Given the description of an element on the screen output the (x, y) to click on. 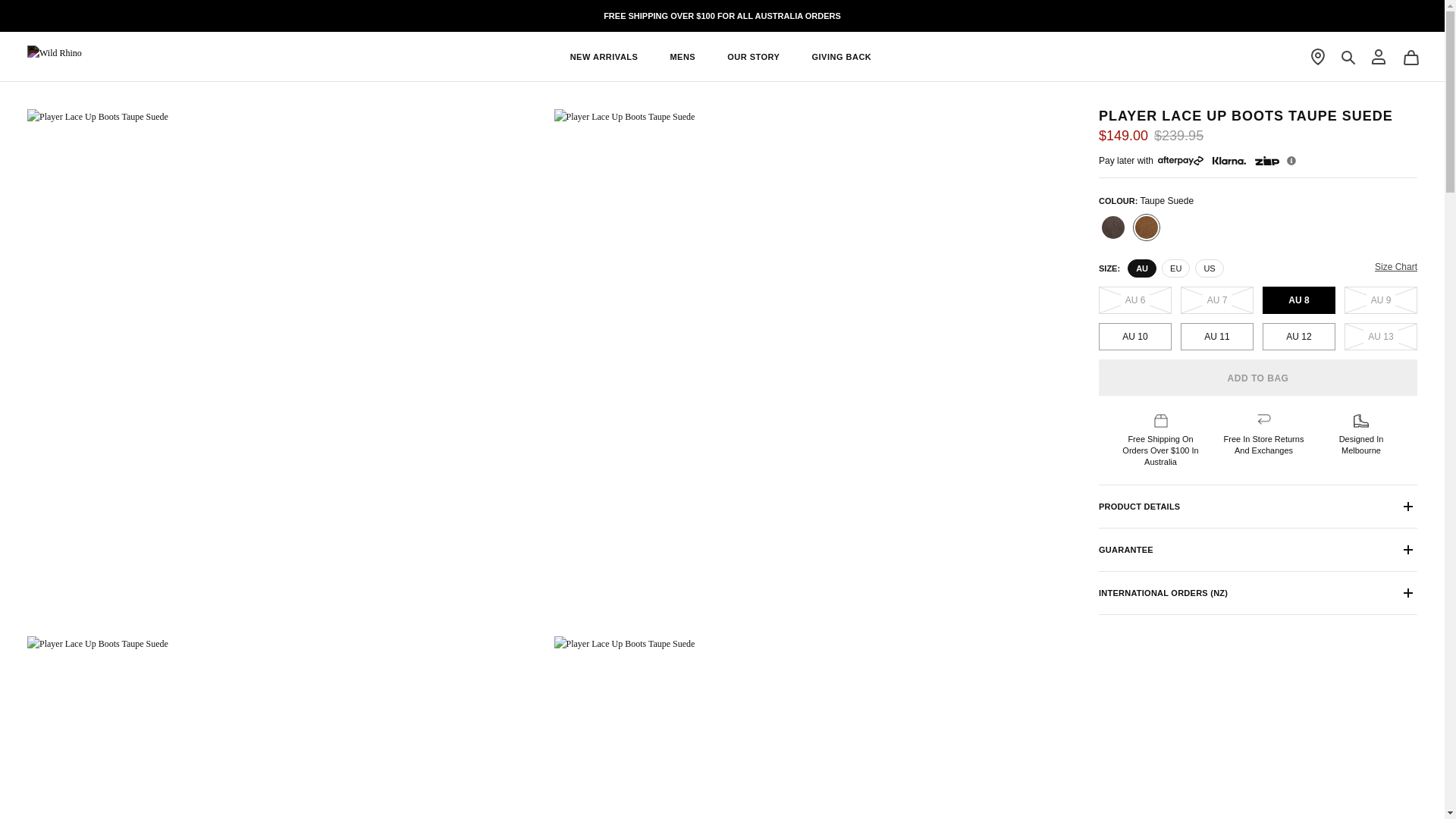
Player Lace Up Boots Taupe Suede (810, 727)
OUR STORY (752, 56)
GIVING BACK (840, 56)
Taupe Suede (1146, 227)
EU (1175, 268)
MENS (682, 56)
ADD TO BAG (1257, 377)
AU (1141, 268)
Dark Grey (1113, 227)
